Given the description of an element on the screen output the (x, y) to click on. 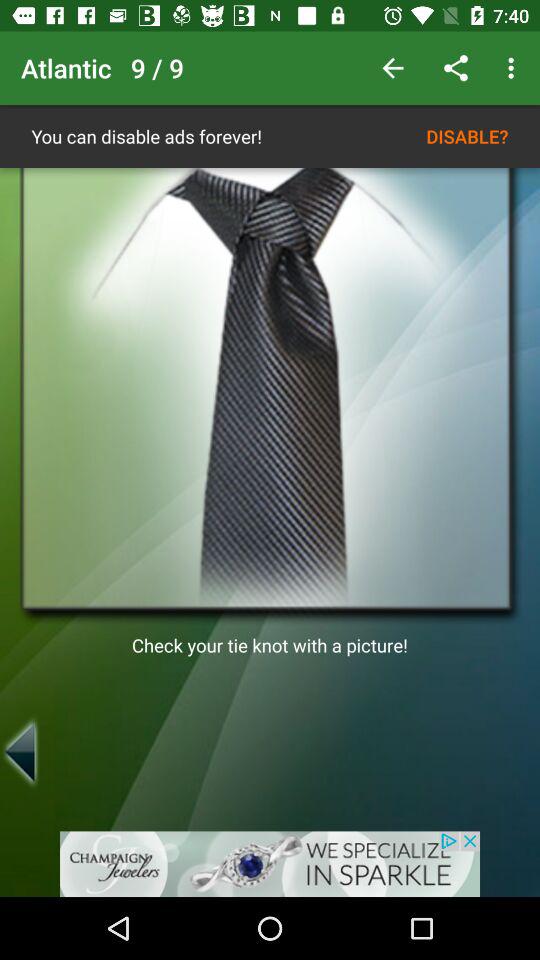
this is an advertisement (270, 864)
